Given the description of an element on the screen output the (x, y) to click on. 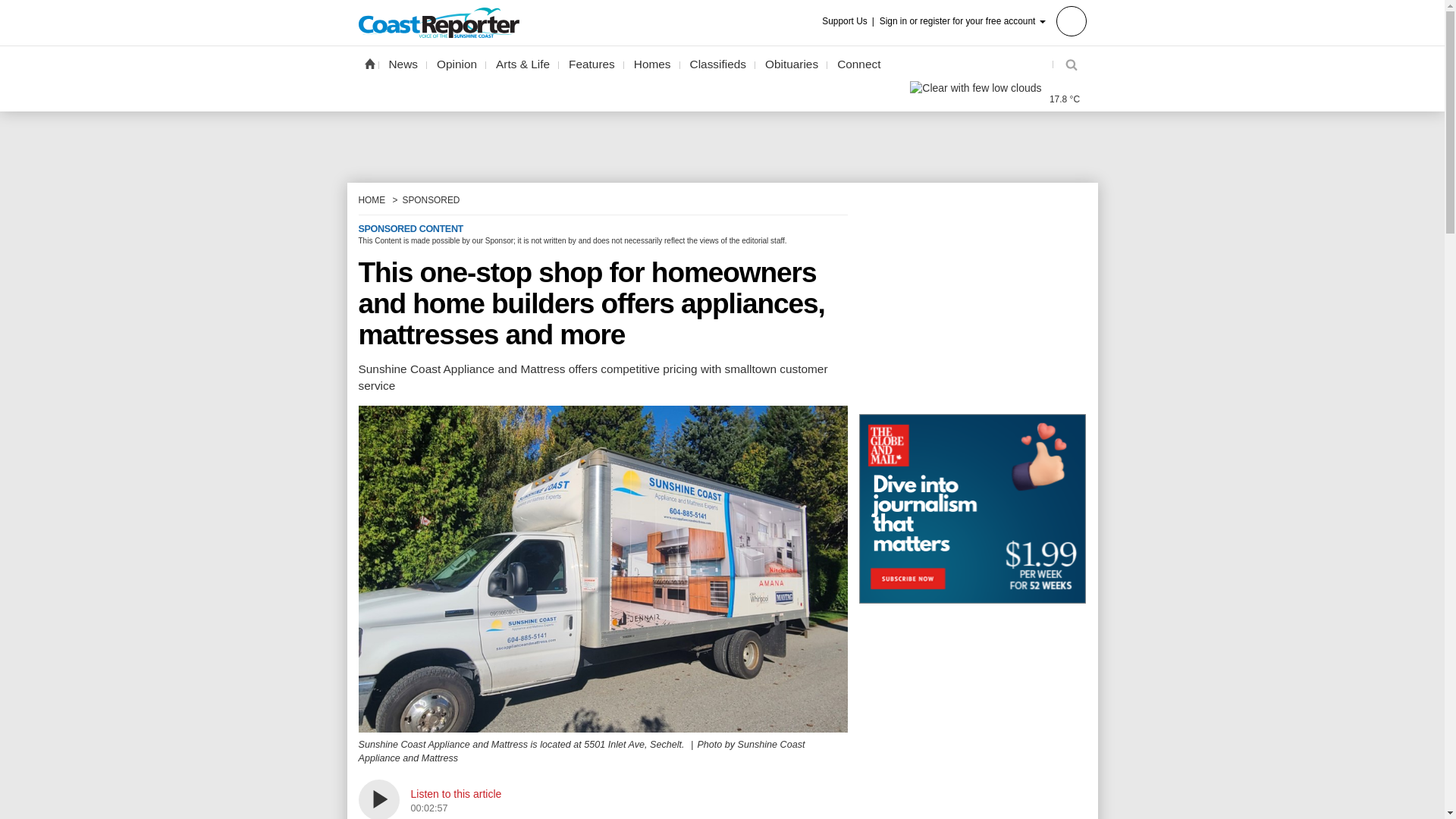
Opinion (456, 64)
News (403, 64)
Sign in or register for your free account (982, 20)
Support Us (849, 21)
Home (368, 63)
